Given the description of an element on the screen output the (x, y) to click on. 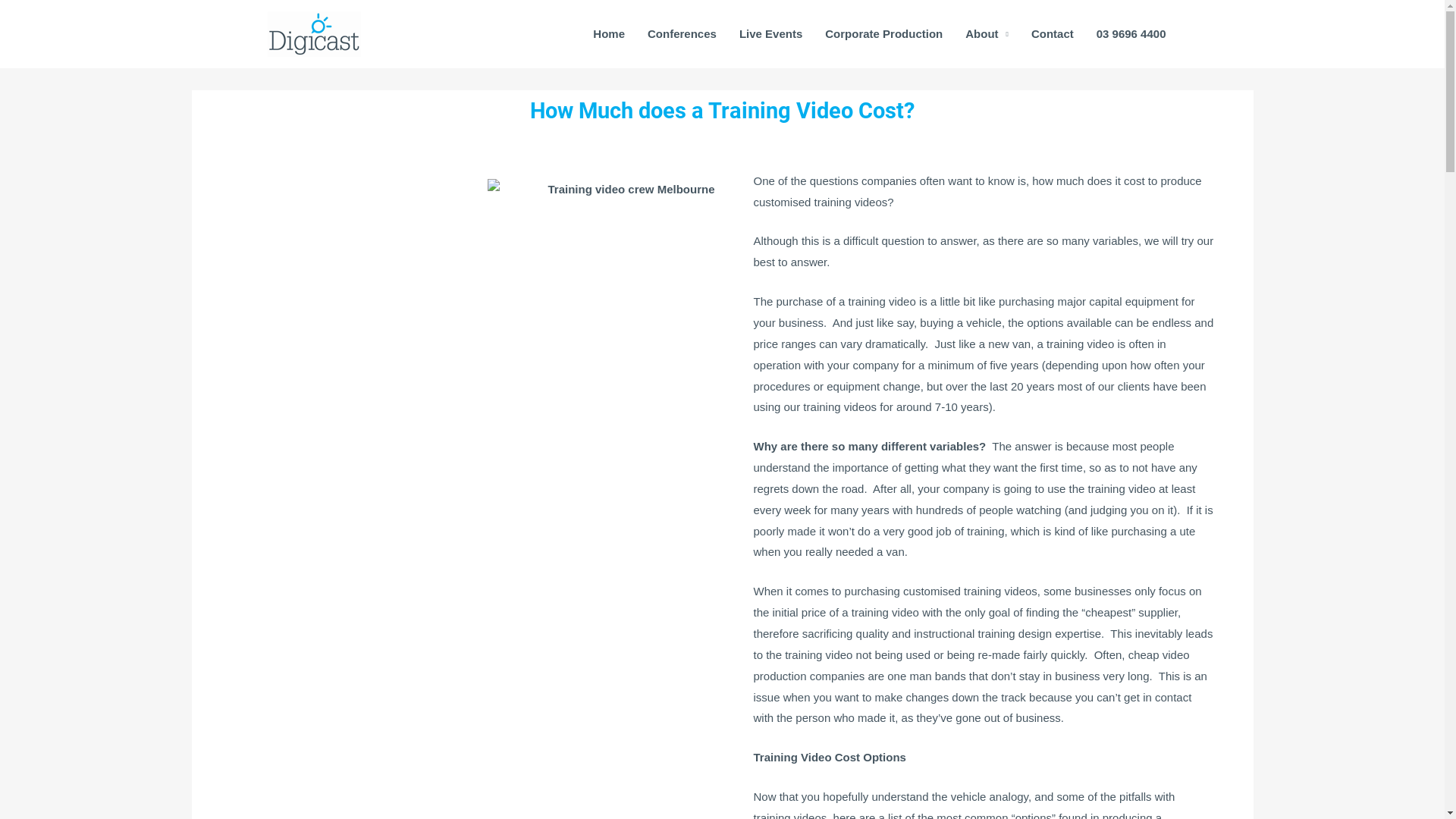
training videos Element type: text (851, 201)
Conferences Element type: text (682, 34)
Contact Element type: text (1052, 34)
Home Element type: text (608, 34)
Corporate Production Element type: text (883, 34)
Live Events Element type: text (770, 34)
03 9696 4400 Element type: text (1131, 34)
About Element type: text (986, 34)
